Given the description of an element on the screen output the (x, y) to click on. 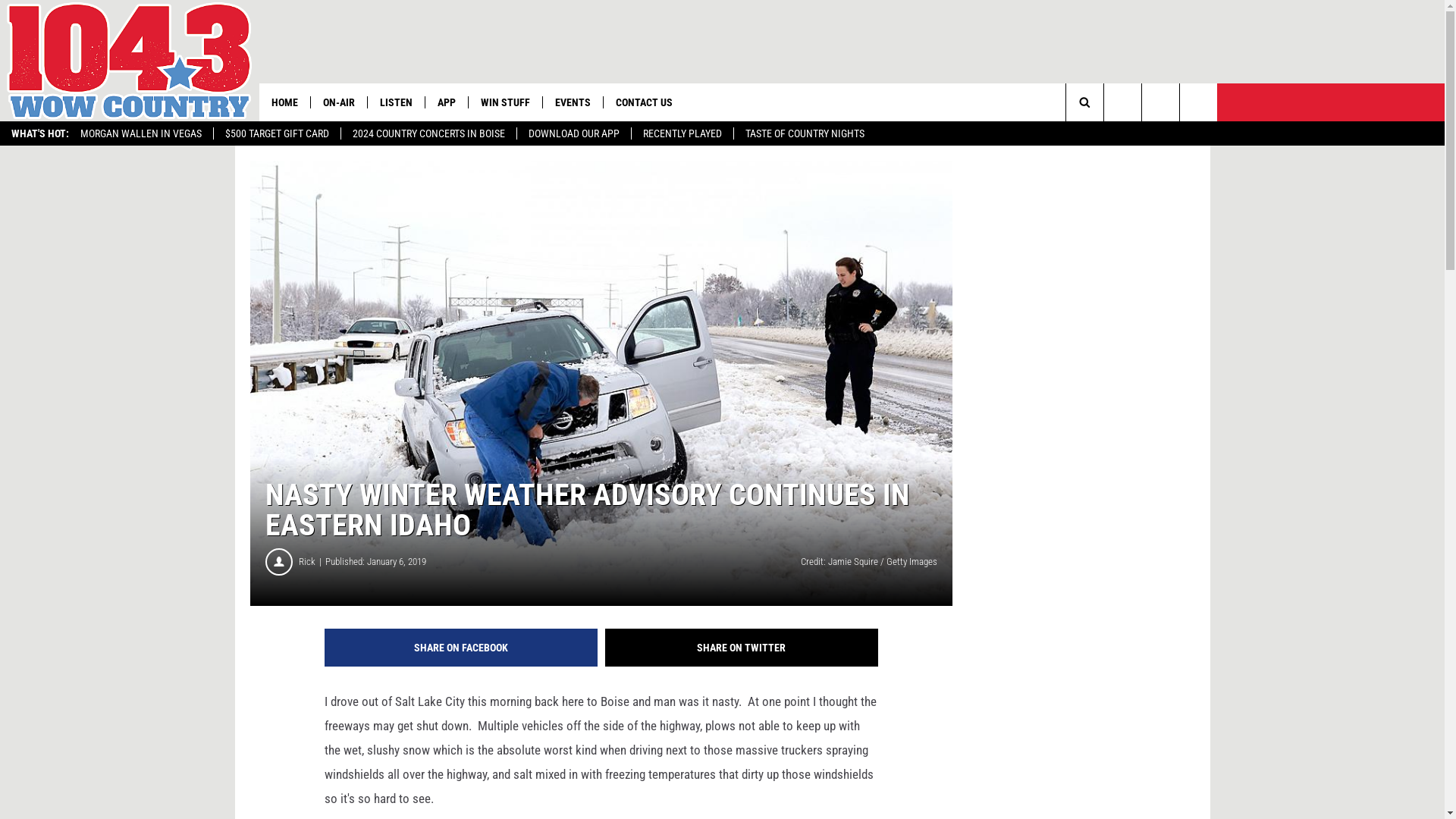
2024 COUNTRY CONCERTS IN BOISE Element type: text (428, 133)
Visit us on Youtube Element type: text (1122, 102)
SHARE ON TWITTER Element type: text (741, 647)
Visit us on Twitter Element type: text (1198, 102)
DOWNLOAD OUR APP Element type: text (573, 133)
SHARE ON FACEBOOK Element type: text (460, 647)
APP Element type: text (445, 102)
CONTACT US Element type: text (643, 102)
ON-AIR Element type: text (338, 102)
WIN STUFF Element type: text (504, 102)
MORGAN WALLEN IN VEGAS Element type: text (141, 133)
RECENTLY PLAYED Element type: text (681, 133)
$500 TARGET GIFT CARD Element type: text (276, 133)
HOME Element type: text (284, 102)
Visit us on Facebook Element type: text (1160, 102)
Rick Element type: text (311, 561)
TASTE OF COUNTRY NIGHTS Element type: text (804, 133)
LISTEN Element type: text (395, 102)
EVENTS Element type: text (572, 102)
